Given the description of an element on the screen output the (x, y) to click on. 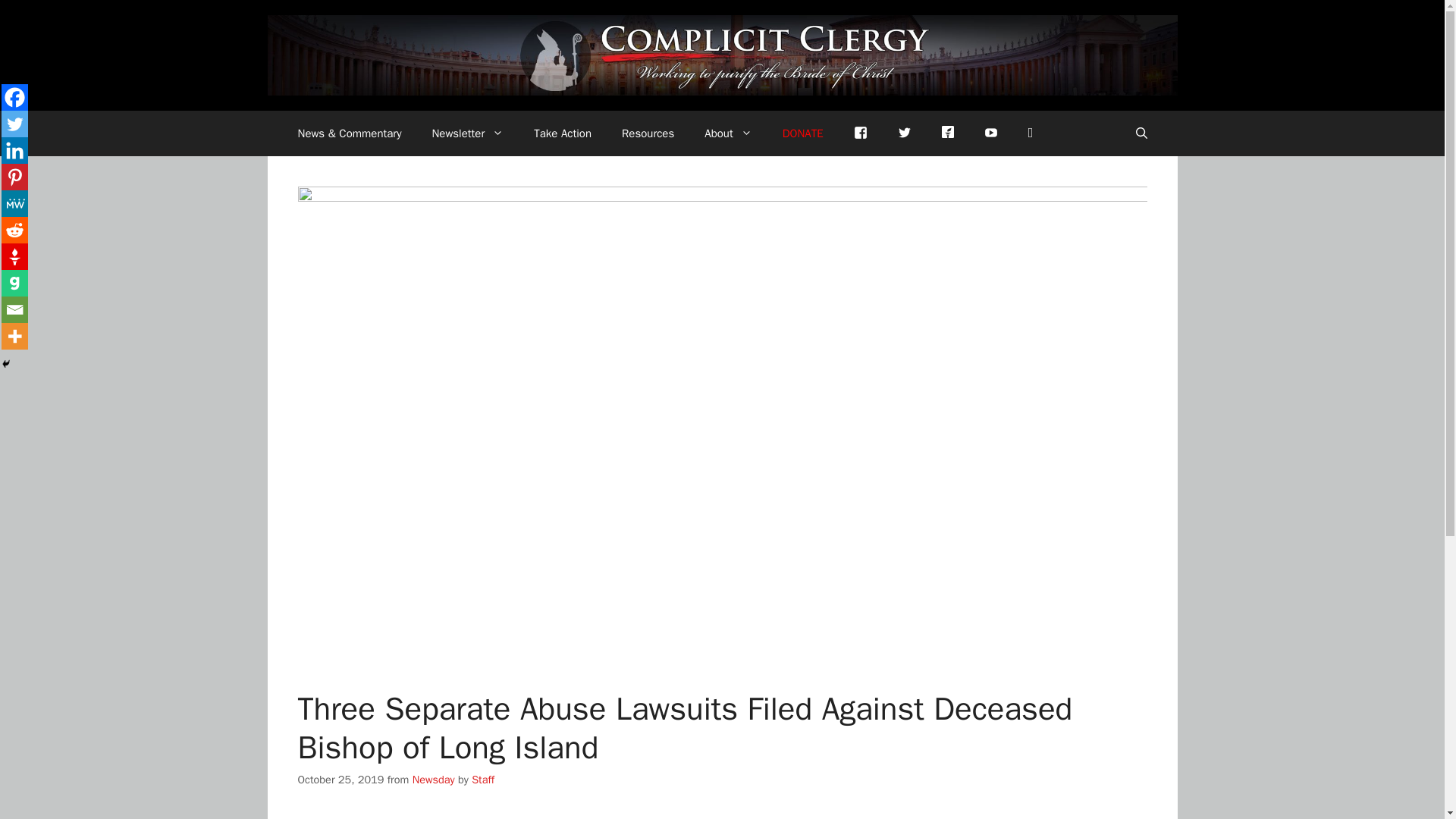
Take Action (562, 133)
DONATE (802, 133)
Resources (647, 133)
Newsday (433, 779)
Twitter (14, 123)
Twitter (904, 133)
Facebook (14, 97)
Facebook (860, 133)
Newsletter (467, 133)
Linkedin (14, 150)
